Given the description of an element on the screen output the (x, y) to click on. 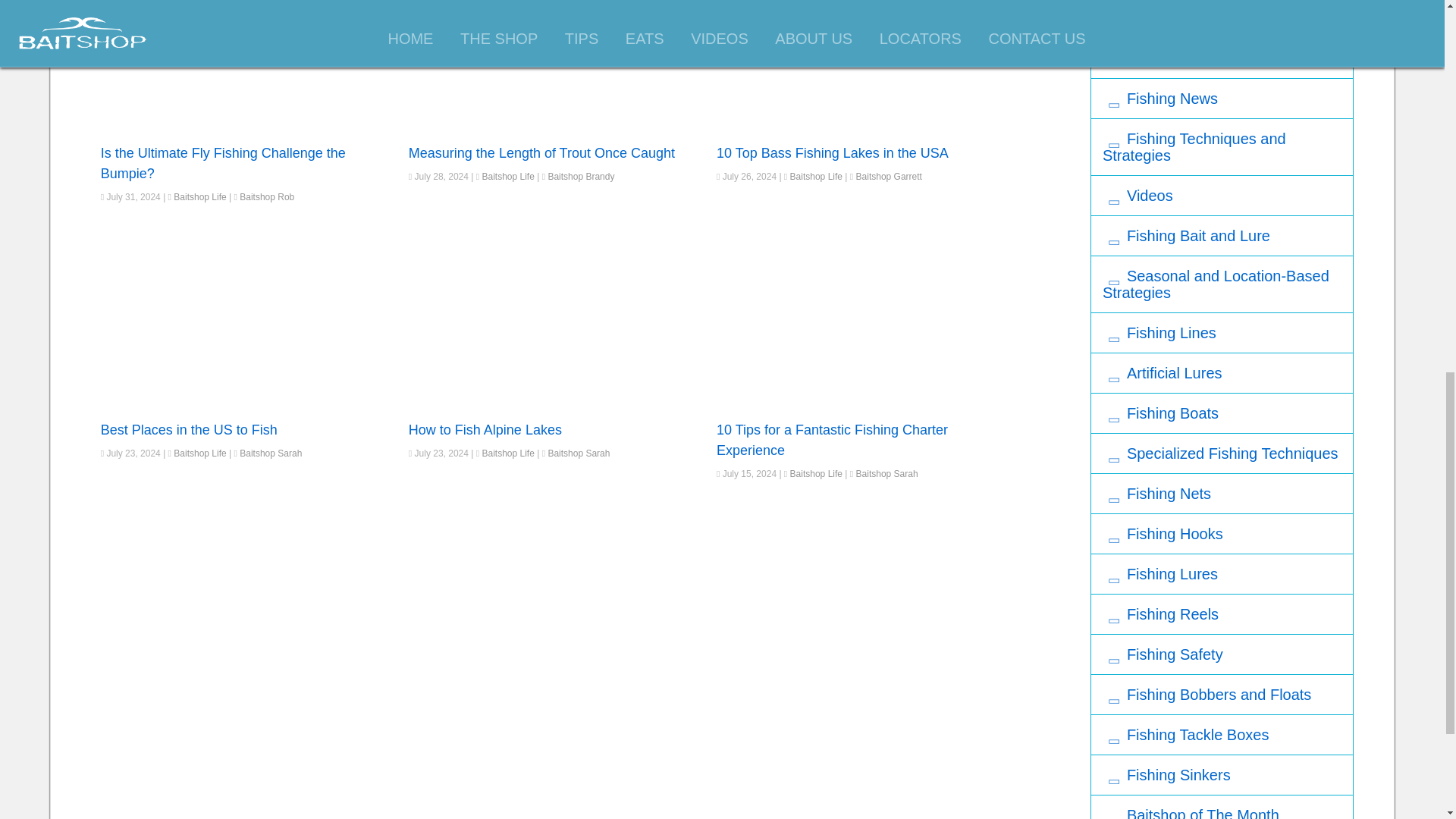
Baitshop Life (199, 196)
View all posts by Baitshop Rob (267, 196)
View all posts by Baitshop Sarah (270, 452)
Baitshop Rob (267, 196)
Measuring the Length of Trout Once Caught (542, 152)
Is the Ultimate Fly Fishing Challenge the Bumpie? (223, 162)
View all posts by Baitshop Sarah (887, 473)
View all posts by Baitshop Garrett (888, 176)
Baitshop Life (507, 176)
Baitshop Brandy (580, 176)
View all posts by Baitshop Sarah (578, 452)
View all posts by Baitshop Brandy (580, 176)
